Given the description of an element on the screen output the (x, y) to click on. 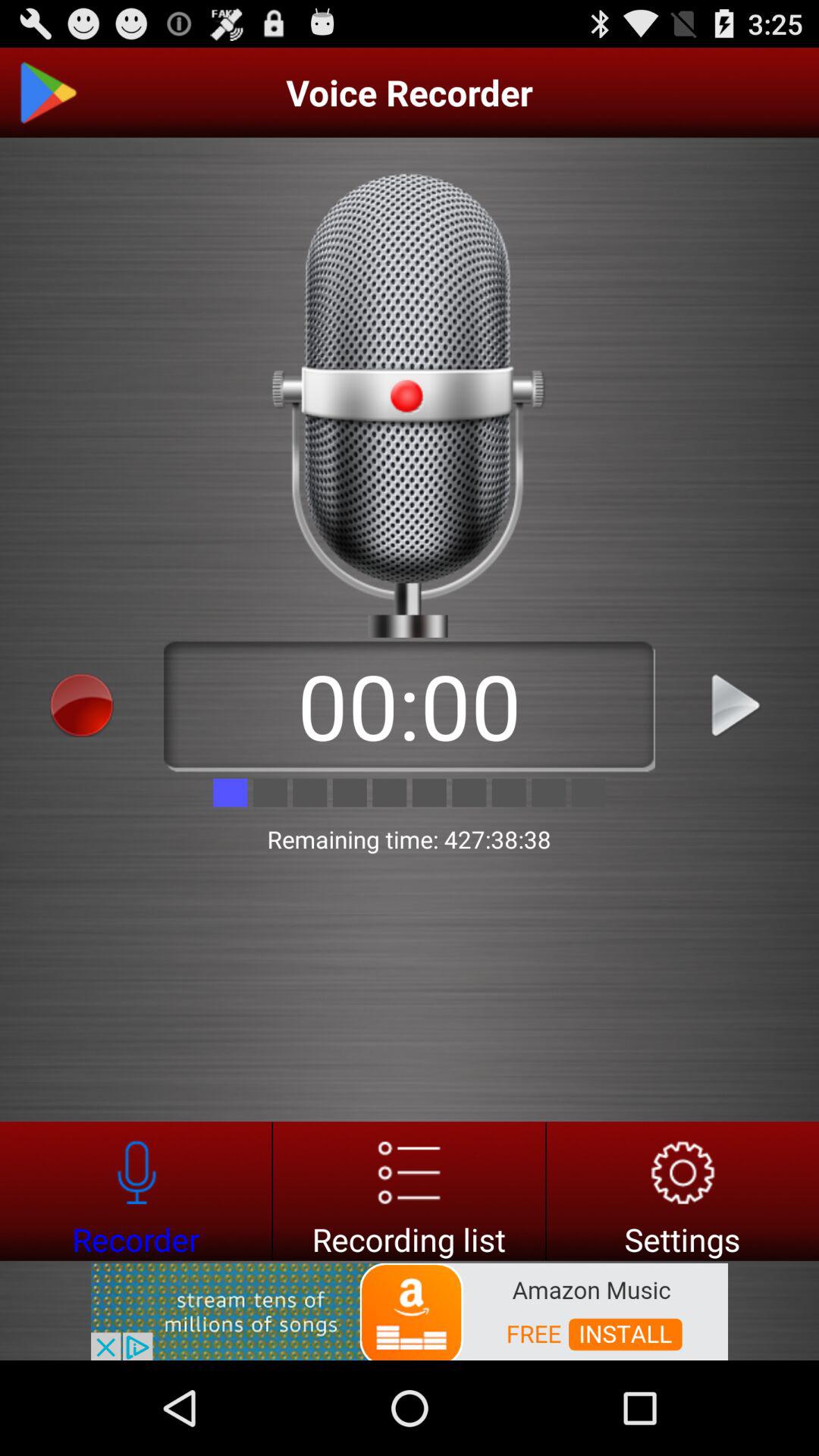
open play store (47, 92)
